Given the description of an element on the screen output the (x, y) to click on. 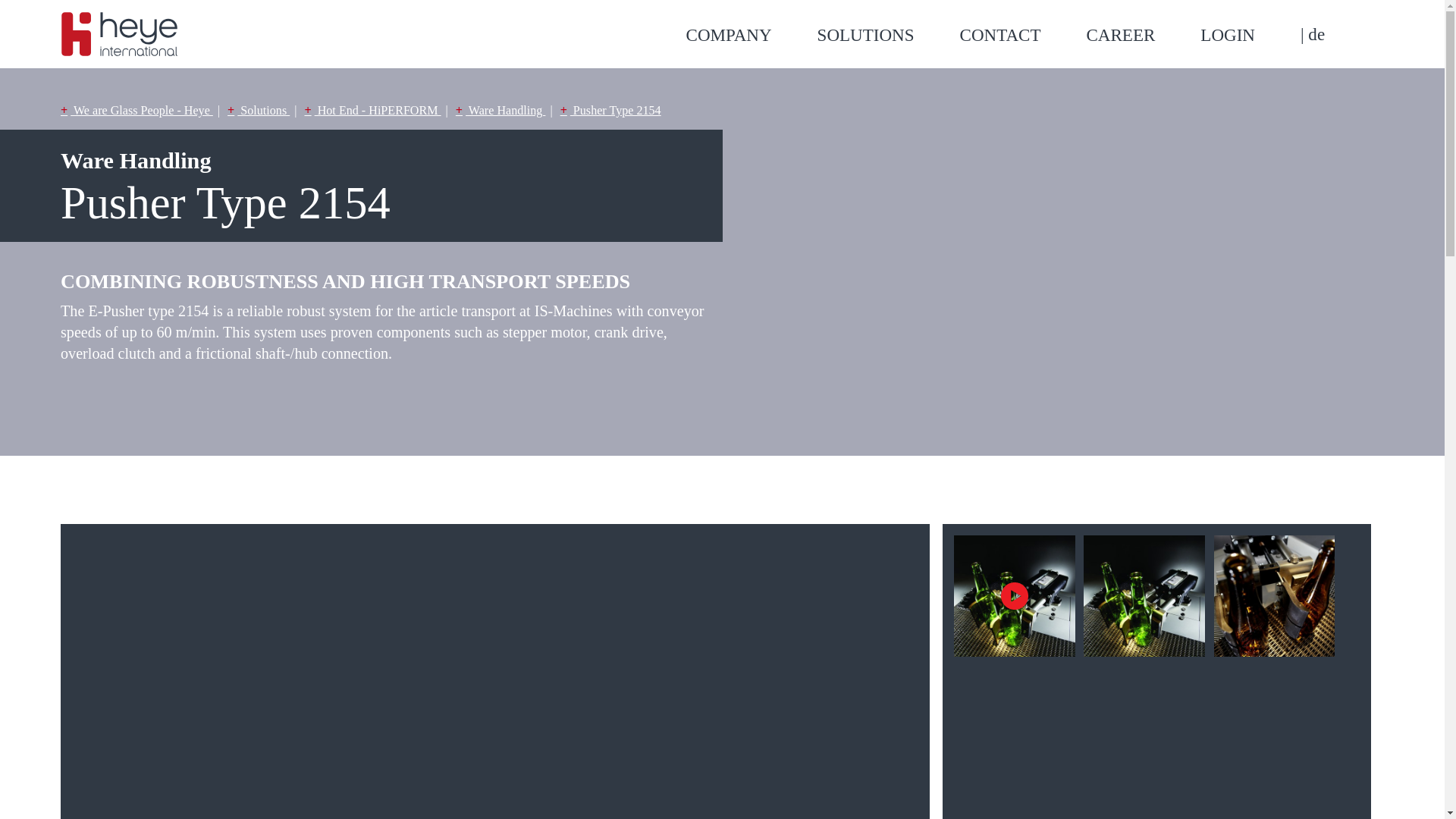
LOGIN (1249, 34)
CAREER (1142, 34)
CONTACT (1022, 34)
Deutsch (1312, 34)
SOLUTIONS (887, 34)
COMPANY (750, 34)
